Given the description of an element on the screen output the (x, y) to click on. 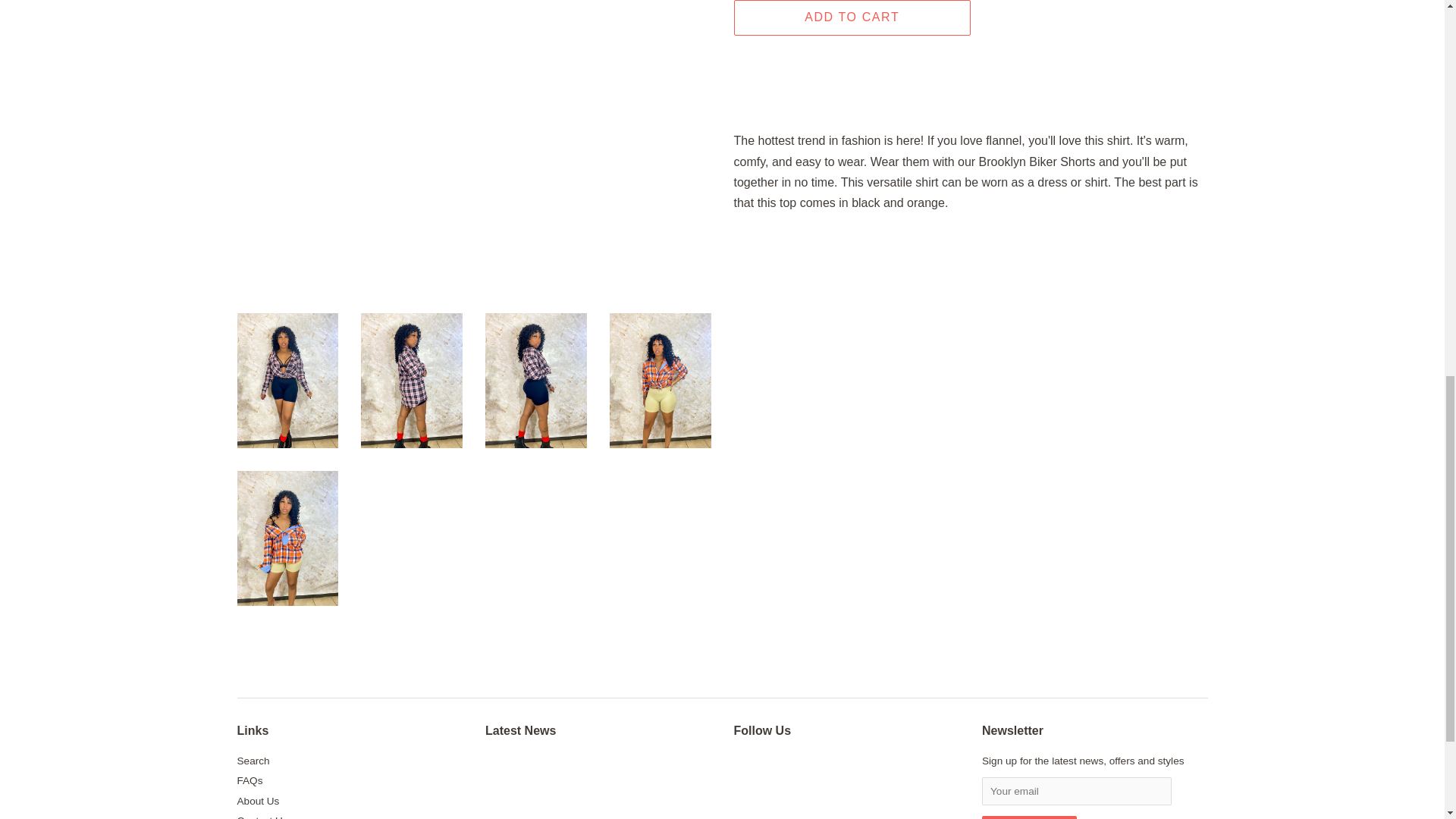
Subscribe (1029, 817)
